Given the description of an element on the screen output the (x, y) to click on. 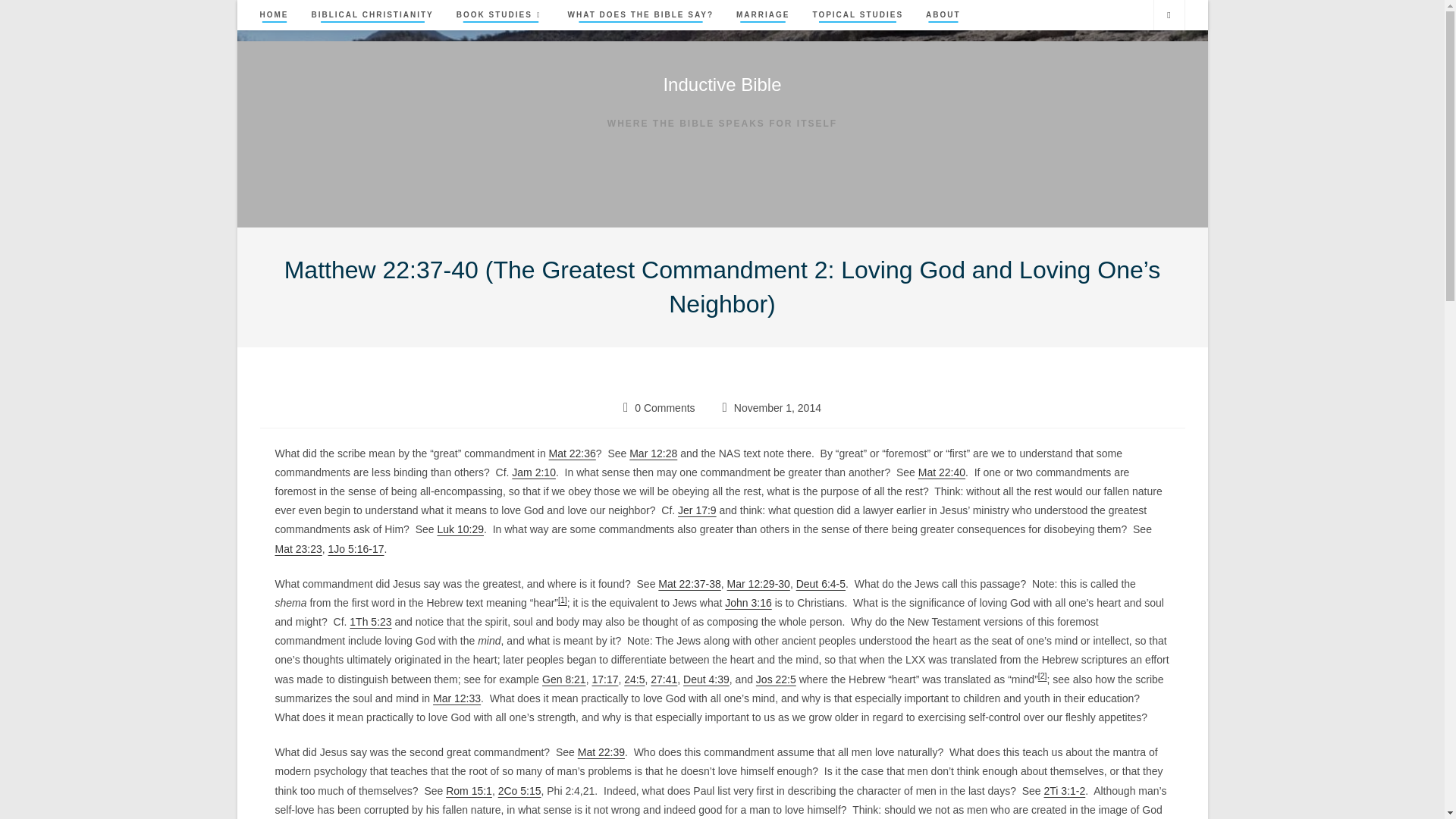
WHAT DOES THE BIBLE SAY? (640, 15)
ABOUT (943, 15)
BIBLICAL CHRISTIANITY (372, 15)
BOOK STUDIES (500, 15)
MARRIAGE (762, 15)
TOPICAL STUDIES (857, 15)
HOME (273, 15)
